Given the description of an element on the screen output the (x, y) to click on. 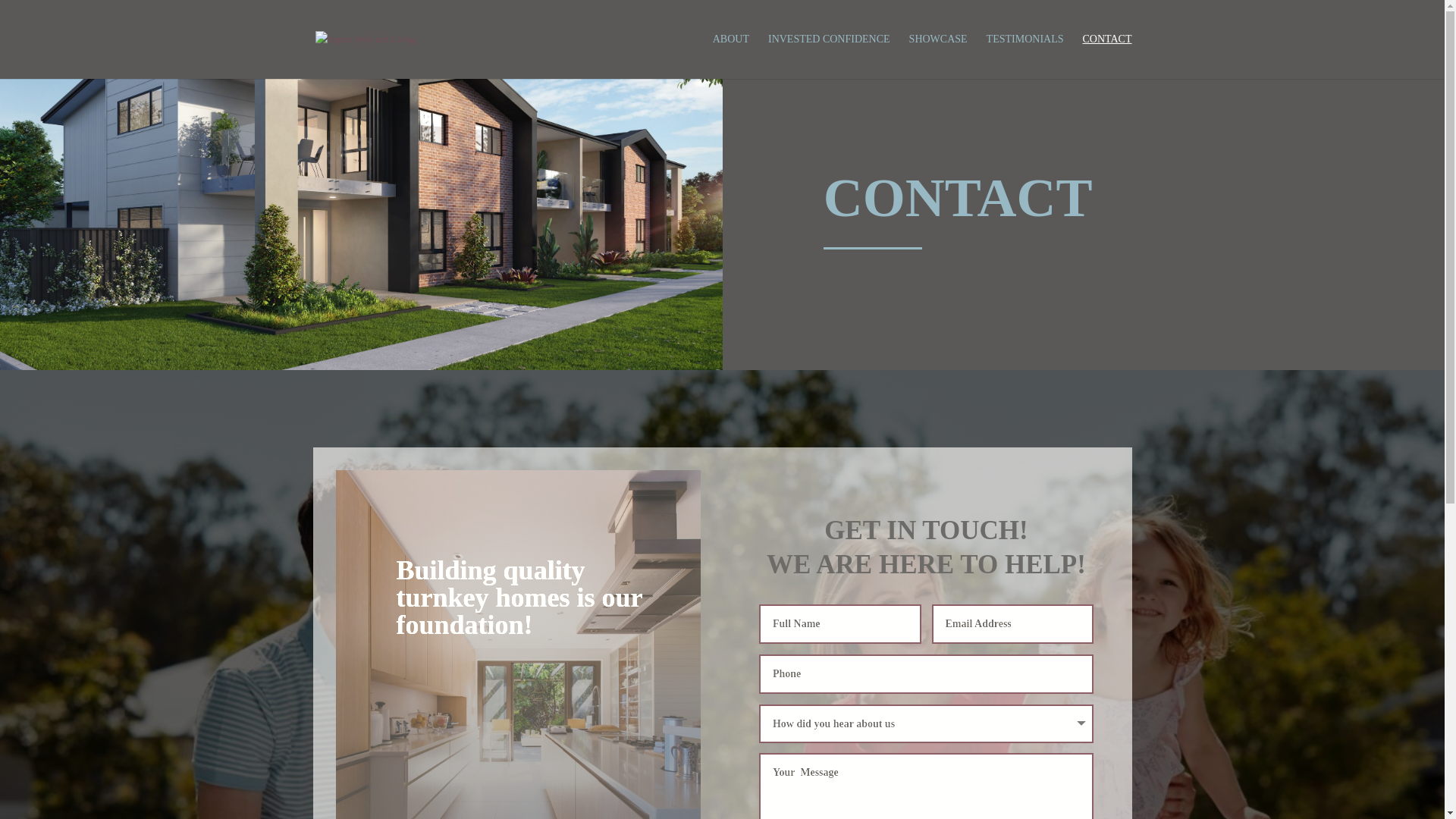
TESTIMONIALS Element type: text (1024, 56)
ABOUT Element type: text (730, 56)
INVESTED CONFIDENCE Element type: text (829, 56)
SHOWCASE Element type: text (938, 56)
CONTACT Element type: text (1107, 56)
